Given the description of an element on the screen output the (x, y) to click on. 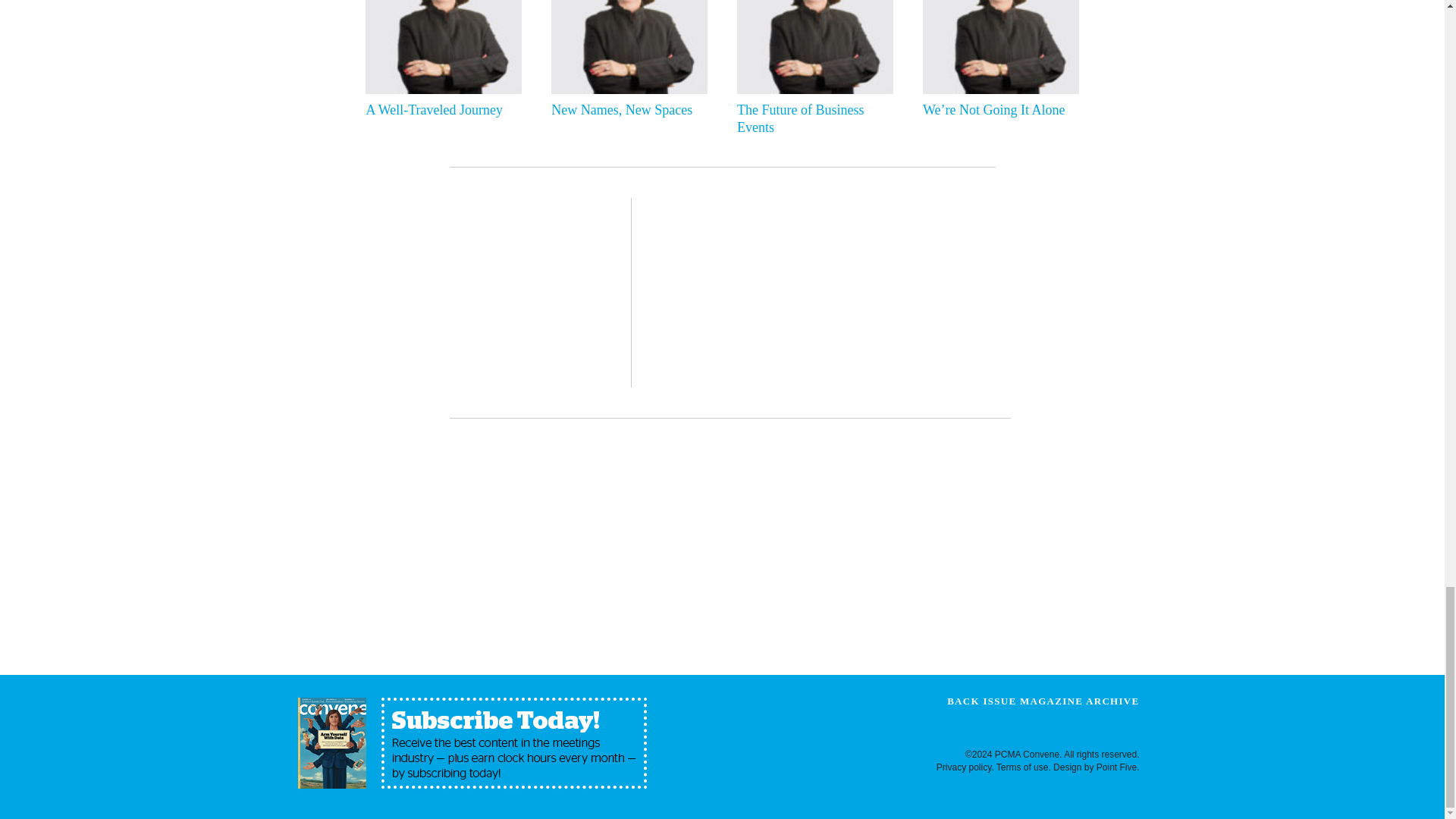
Terms of use. (1023, 767)
BACK ISSUE MAGAZINE ARCHIVE (1042, 700)
The Future of Business Events (810, 119)
New Names, New Spaces (625, 109)
A Well-Traveled Journey (439, 109)
Privacy policy. (965, 767)
CONV-house-sub-ad (471, 743)
